Given the description of an element on the screen output the (x, y) to click on. 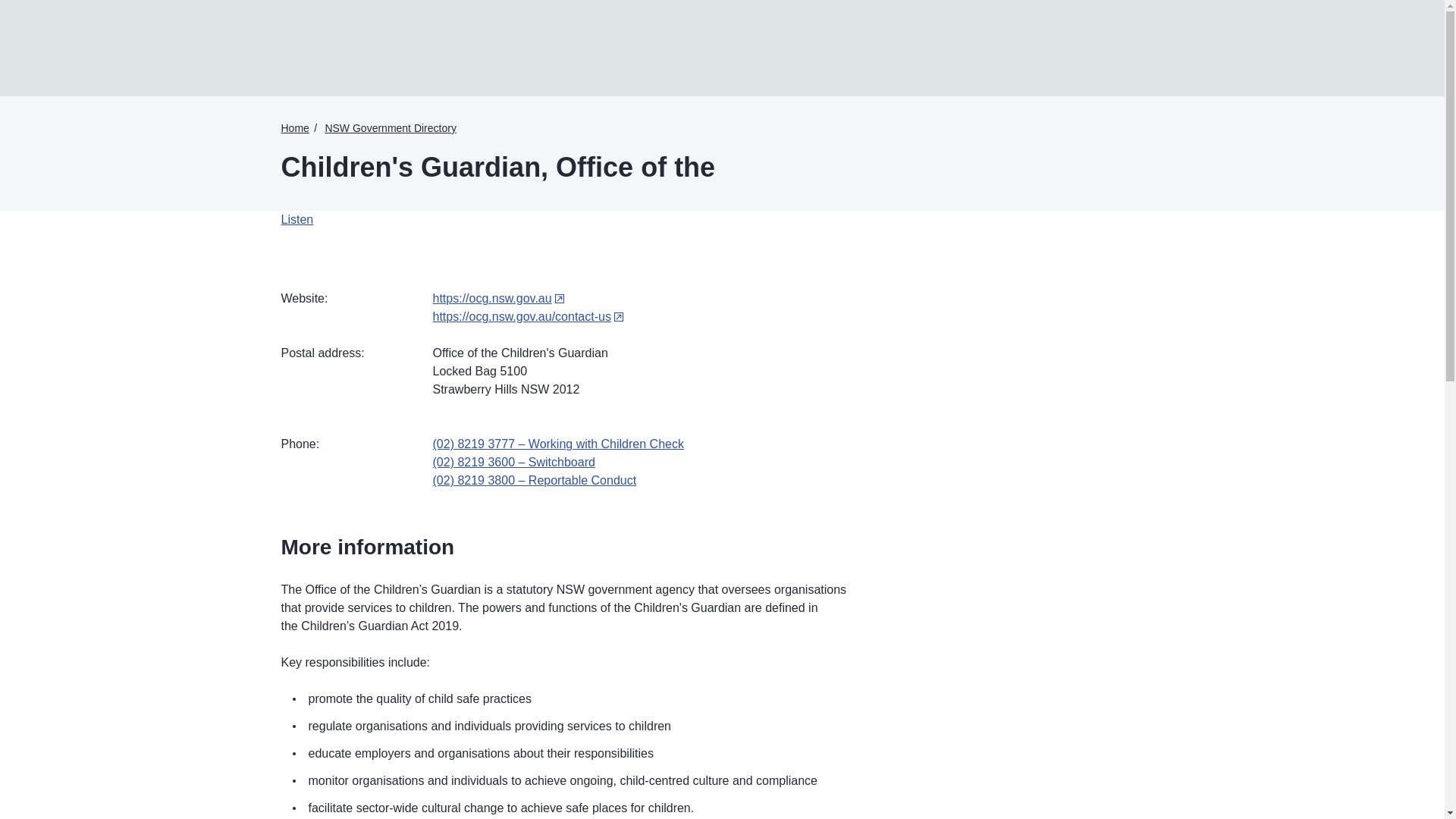
Home (294, 128)
NSW Government Directory (389, 128)
Listen to this page using ReadSpeaker (297, 219)
Listen (297, 219)
